Given the description of an element on the screen output the (x, y) to click on. 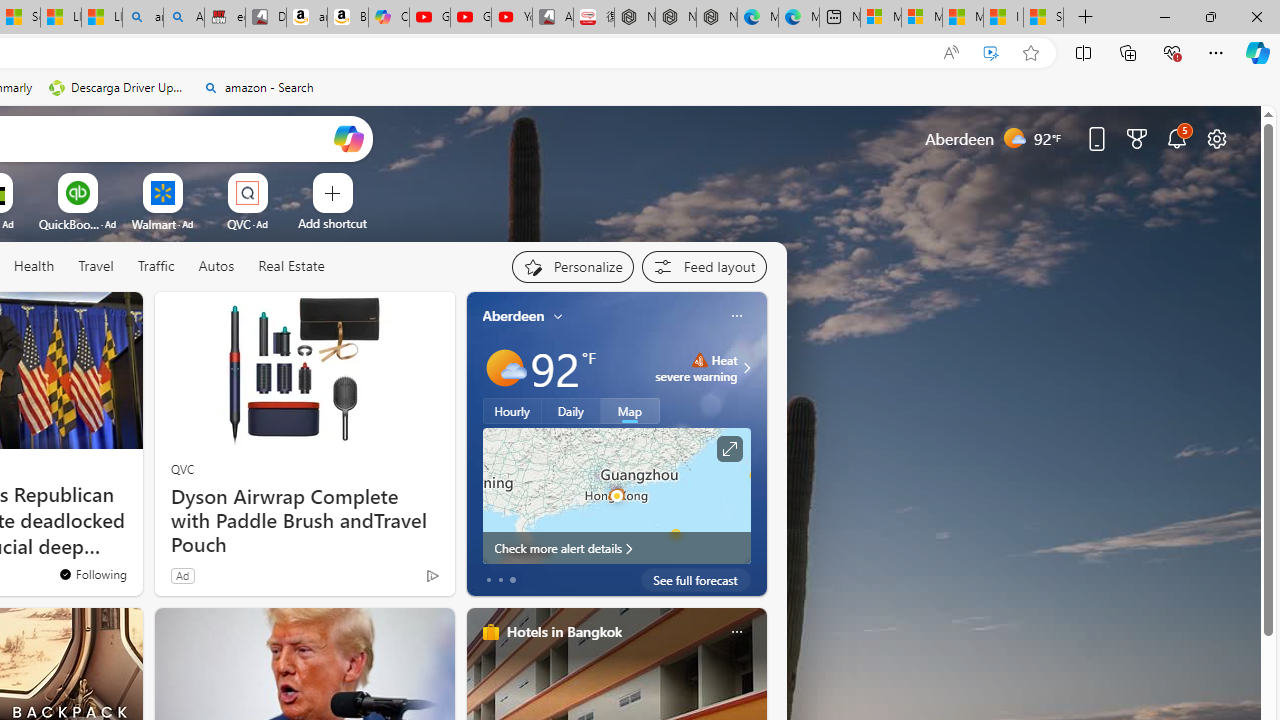
Mostly sunny (504, 368)
Copilot (388, 17)
YouTube Kids - An App Created for Kids to Explore Content (511, 17)
Feed settings (703, 266)
Map (630, 411)
Heat - Severe Heat severe warning (696, 367)
tab-0 (488, 579)
Ad (182, 575)
amazon - Search (142, 17)
Dyson Airwrap Complete with Paddle Brush andTravel Pouch (304, 521)
Larger map  (616, 495)
Traffic (155, 267)
